Given the description of an element on the screen output the (x, y) to click on. 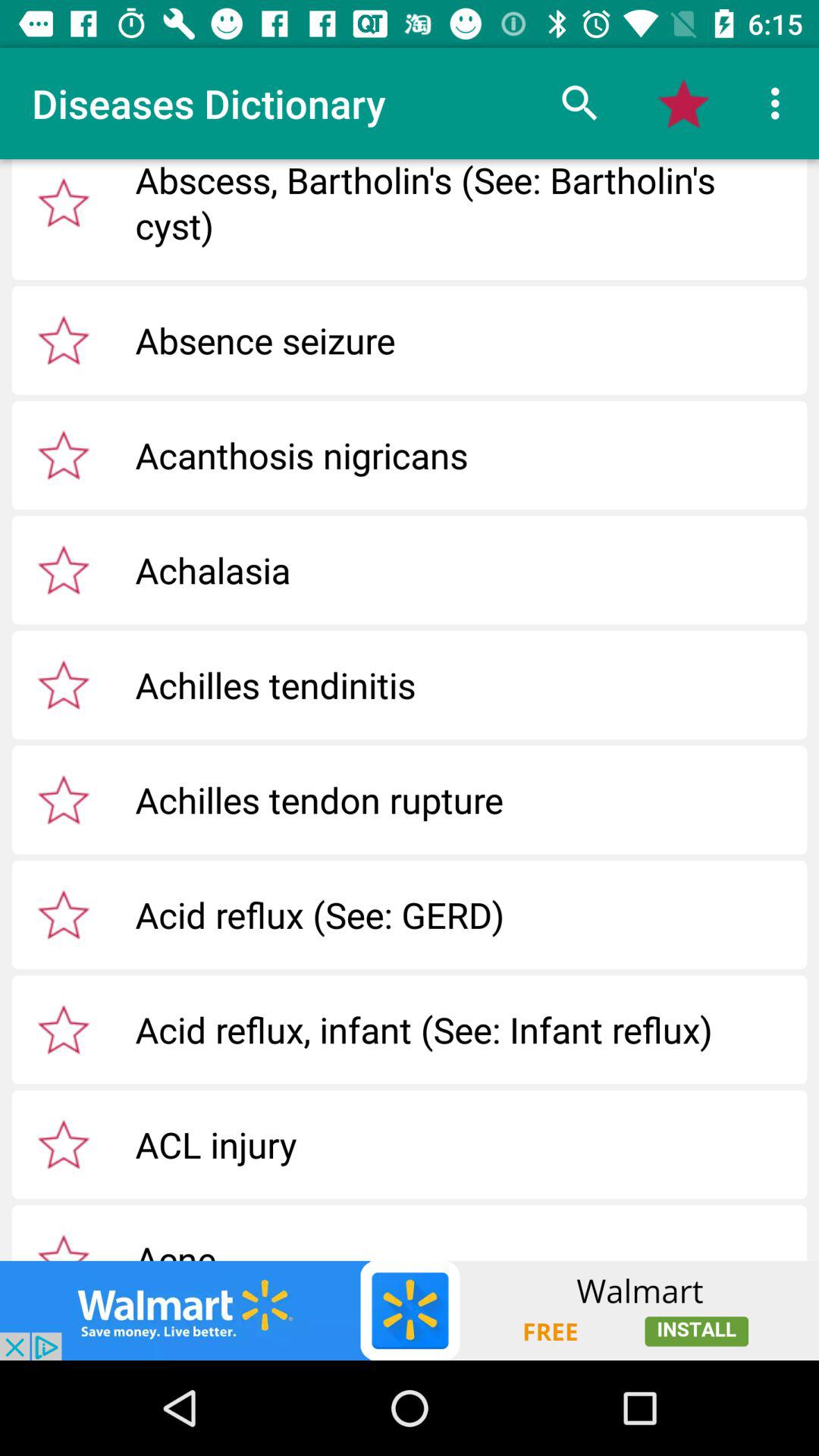
favorite absence seizure (63, 339)
